Given the description of an element on the screen output the (x, y) to click on. 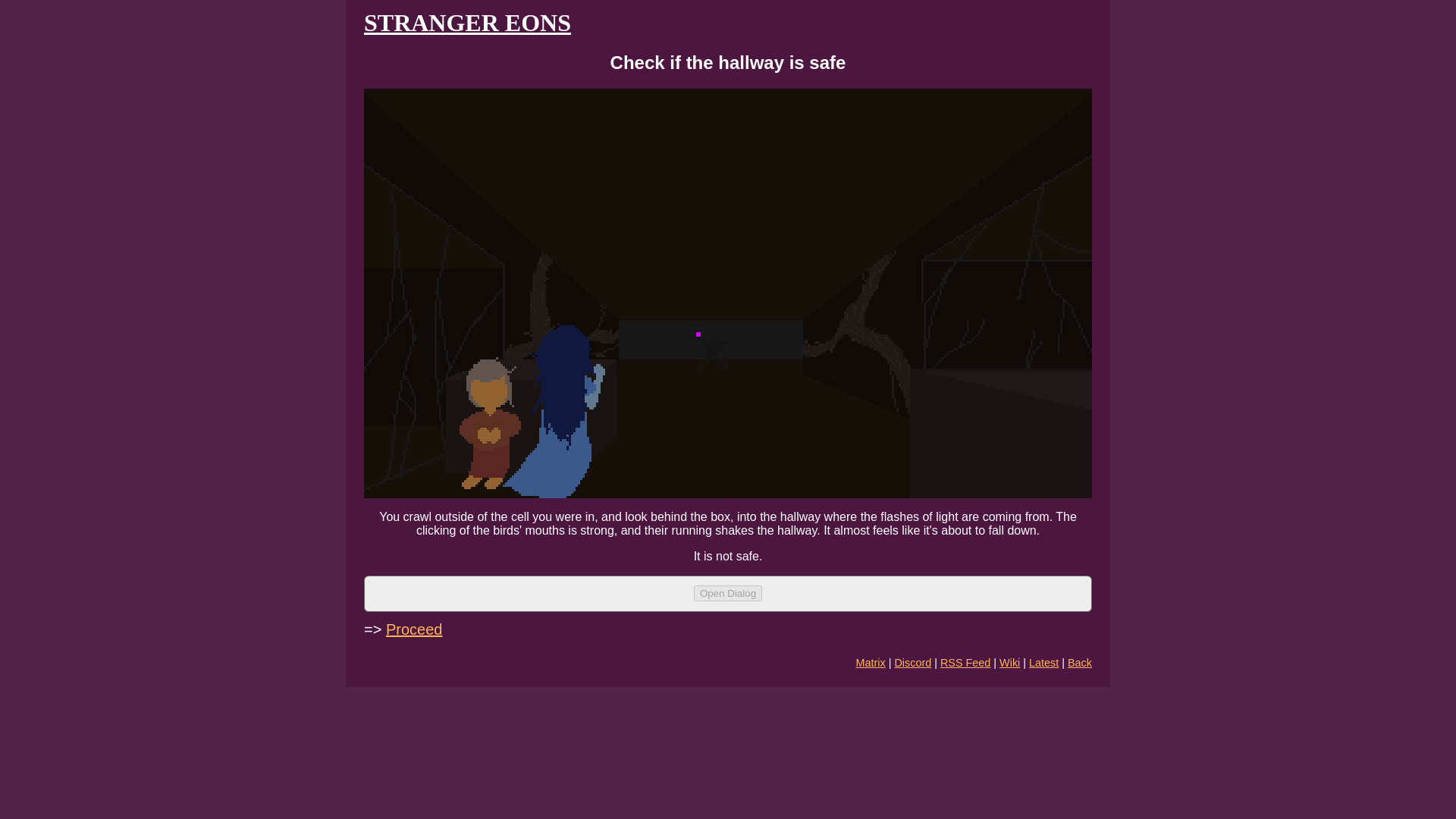
Back (1079, 662)
Wiki (1009, 662)
Matrix (870, 662)
RSS Feed (965, 662)
Discord (912, 662)
Latest (1043, 662)
Proceed (413, 629)
STRANGER EONS (467, 22)
Open Dialog (727, 593)
